Given the description of an element on the screen output the (x, y) to click on. 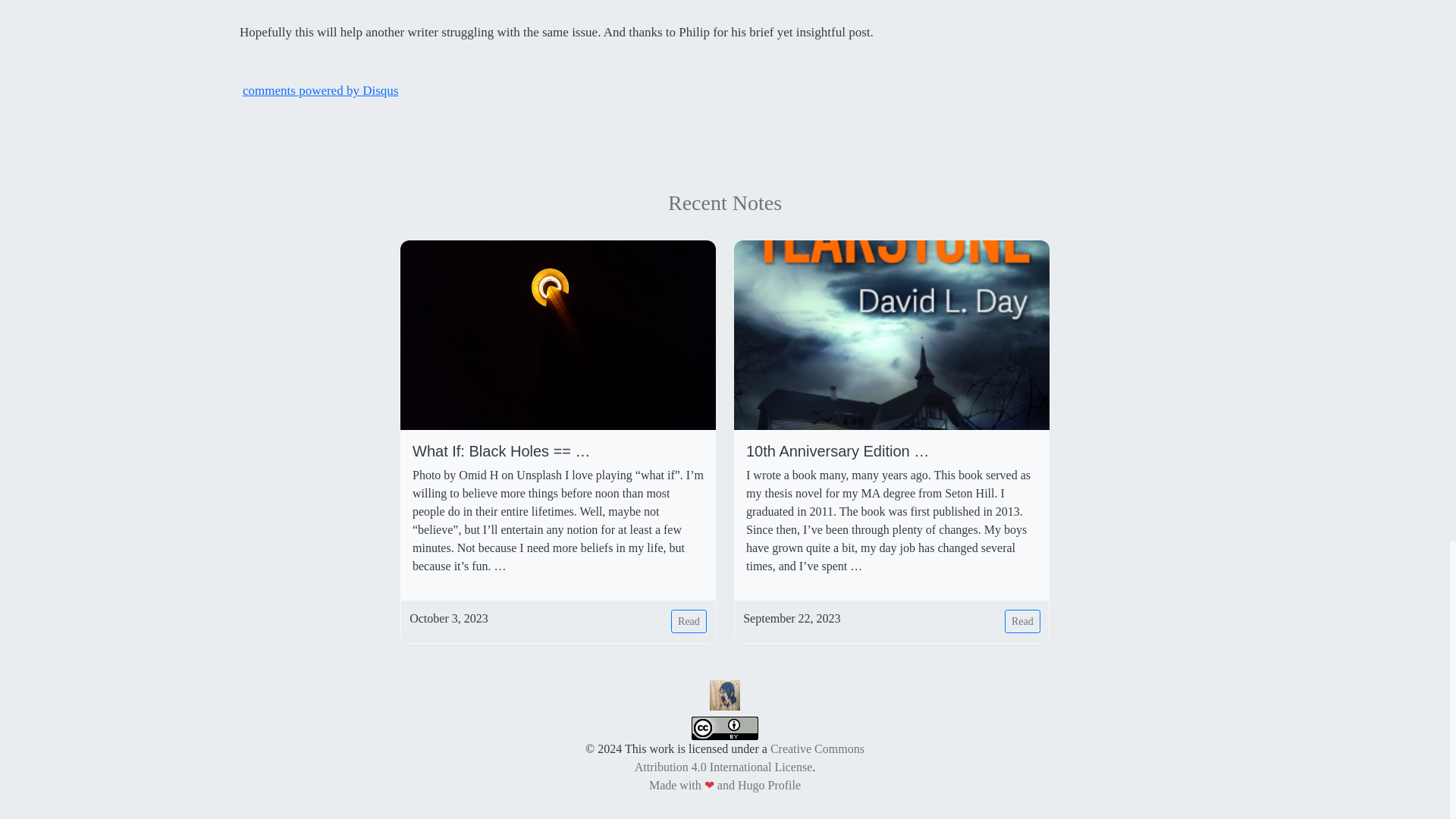
Hugo Profile (769, 784)
comments powered by Disqus (320, 90)
Read (1022, 621)
10th Anniversary Edition of Tearstone (890, 451)
Creative Commons Attribution 4.0 International License (749, 757)
David L. Day (724, 694)
Designed and developed by gurusabarish (769, 784)
Read (688, 621)
